Given the description of an element on the screen output the (x, y) to click on. 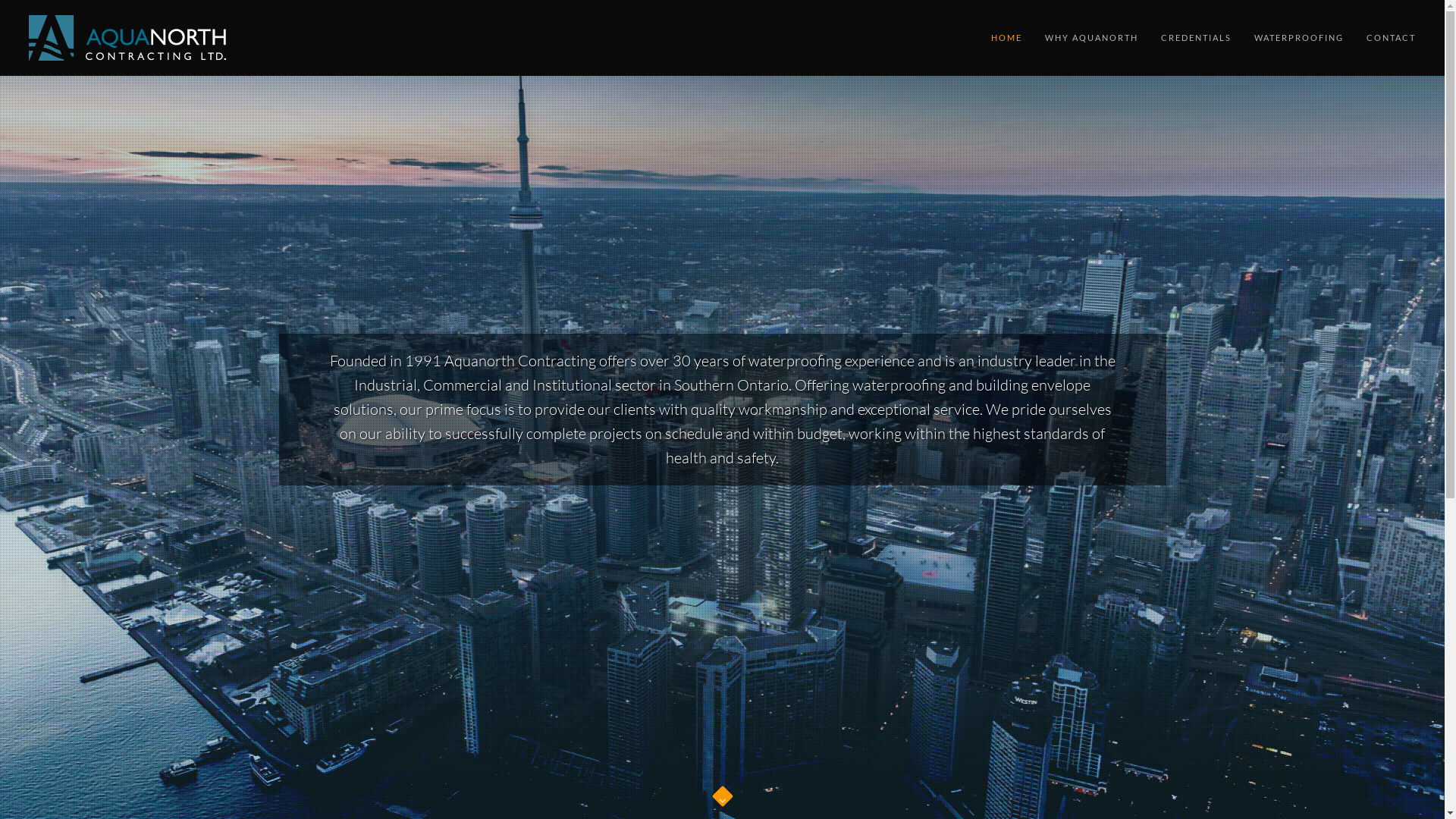
HOME Element type: text (1006, 37)
WATERPROOFING Element type: text (1298, 37)
CONTACT Element type: text (1390, 37)
WHY AQUANORTH Element type: text (1091, 37)
CREDENTIALS Element type: text (1196, 37)
